Given the description of an element on the screen output the (x, y) to click on. 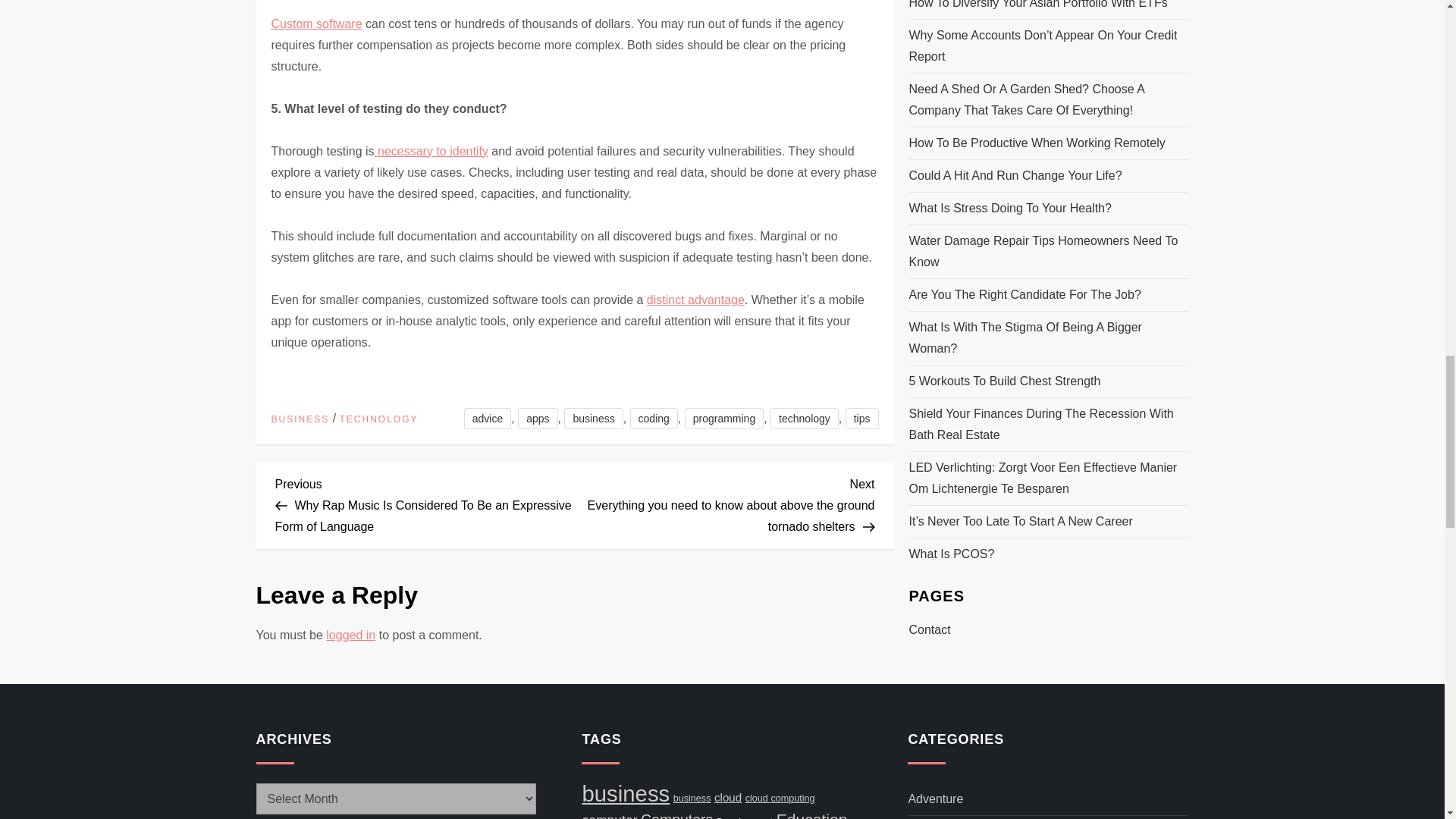
necessary to identify (430, 151)
advice (487, 418)
logged in (350, 634)
business (593, 418)
TECHNOLOGY (379, 419)
coding (654, 418)
technology (804, 418)
programming (723, 418)
distinct advantage (695, 299)
